Given the description of an element on the screen output the (x, y) to click on. 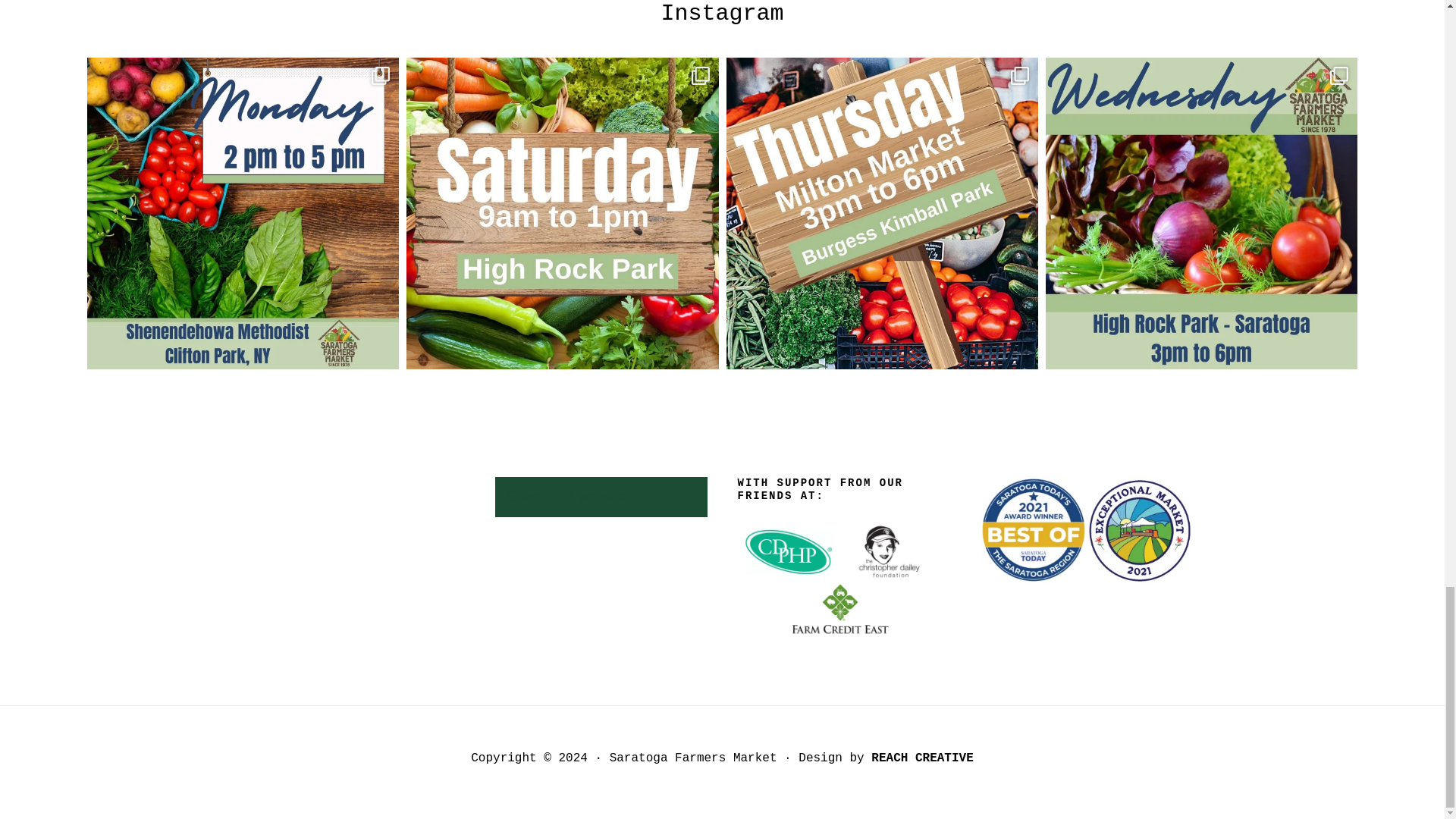
With support from our friends at: (842, 577)
